Given the description of an element on the screen output the (x, y) to click on. 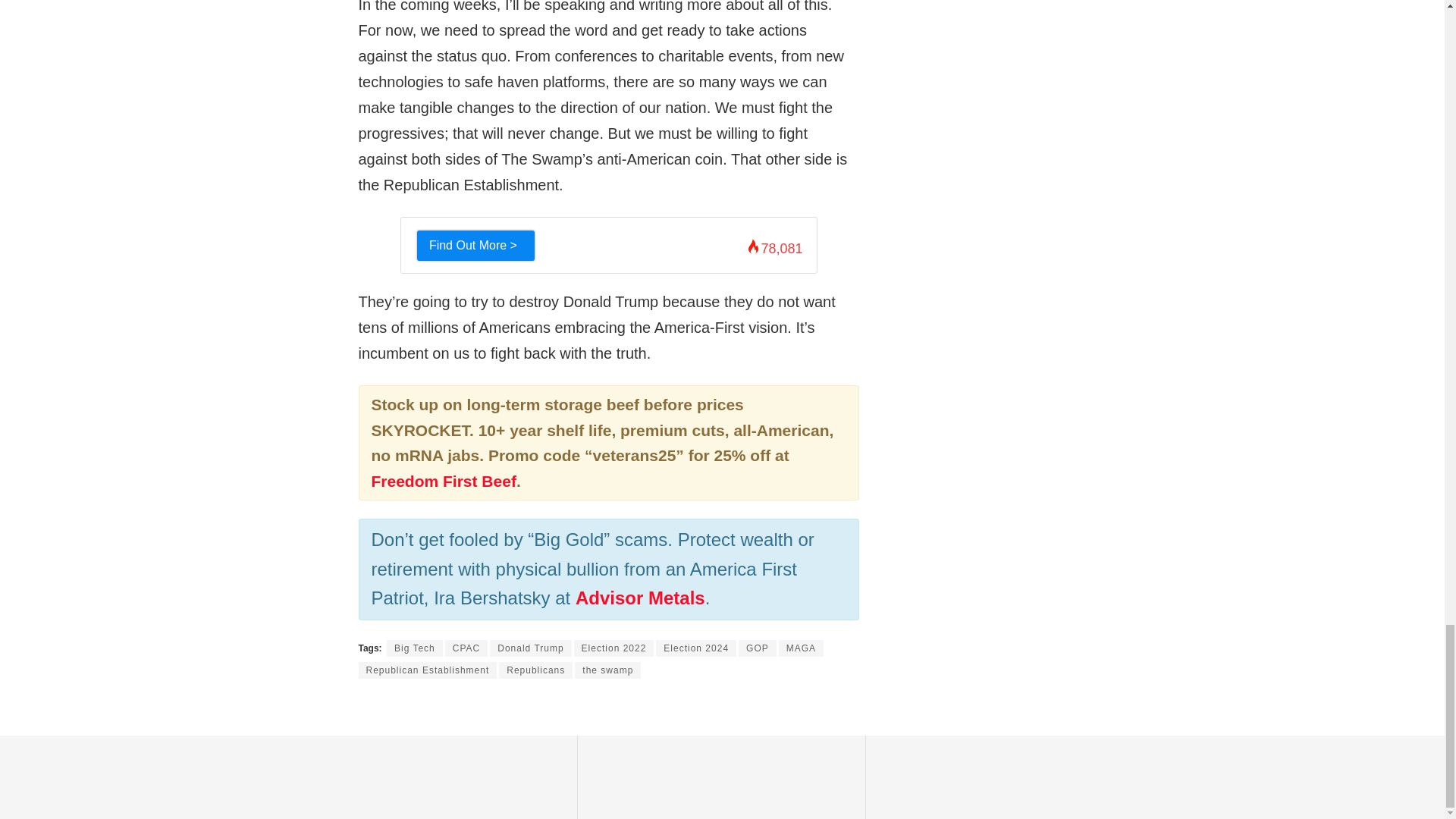
Donald Trump (529, 647)
CPAC (466, 647)
Advisor Metals (639, 598)
GOP (757, 647)
Election 2022 (613, 647)
Freedom First Beef (443, 480)
Republican Establishment (427, 669)
Big Tech (414, 647)
Republicans (535, 669)
Election 2024 (696, 647)
MAGA (801, 647)
